Given the description of an element on the screen output the (x, y) to click on. 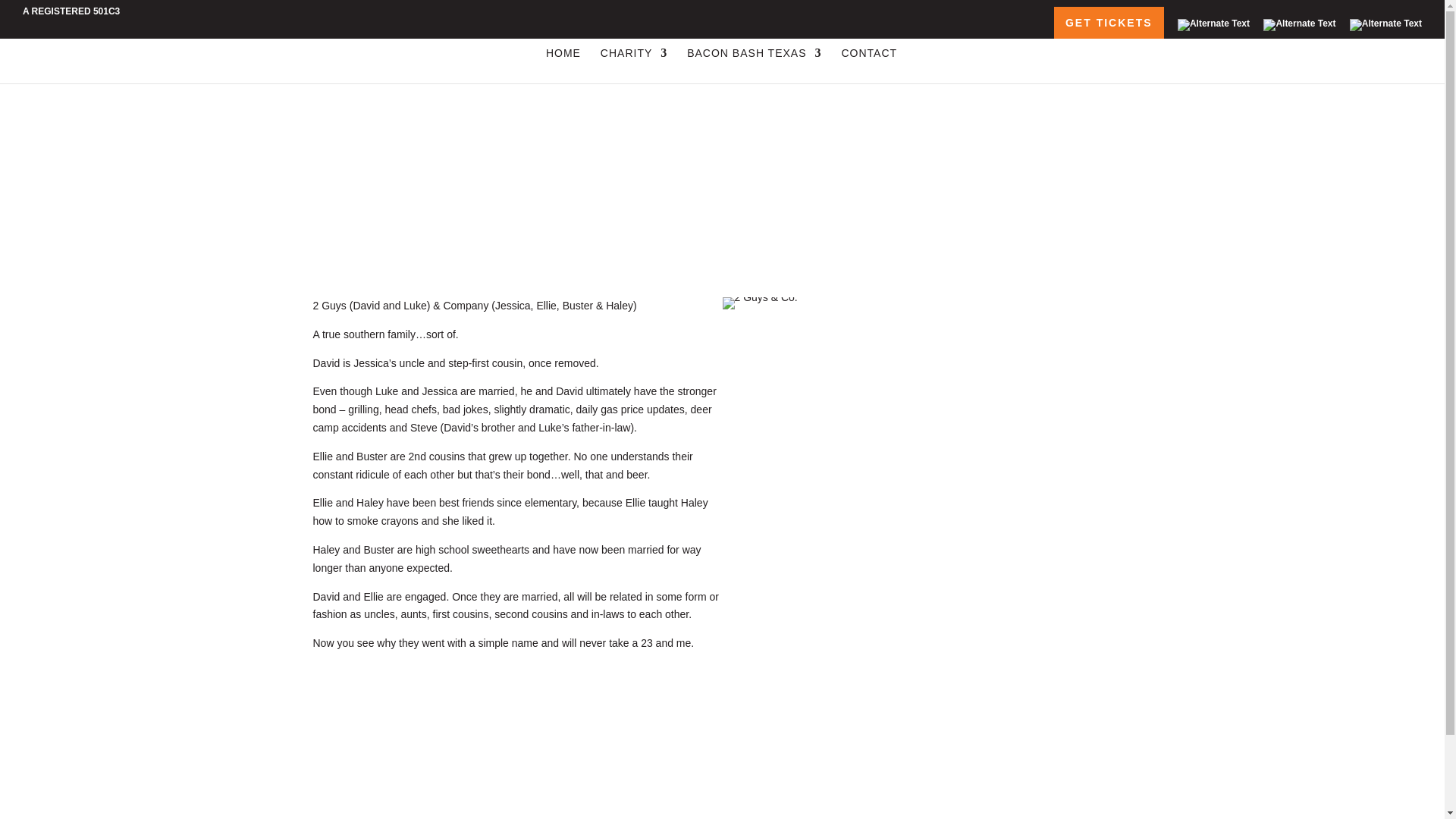
GET TICKETS (1108, 22)
HOME (563, 65)
2Guys (759, 303)
CHARITY (632, 65)
BACON BASH TEXAS (754, 65)
CONTACT (868, 65)
